Given the description of an element on the screen output the (x, y) to click on. 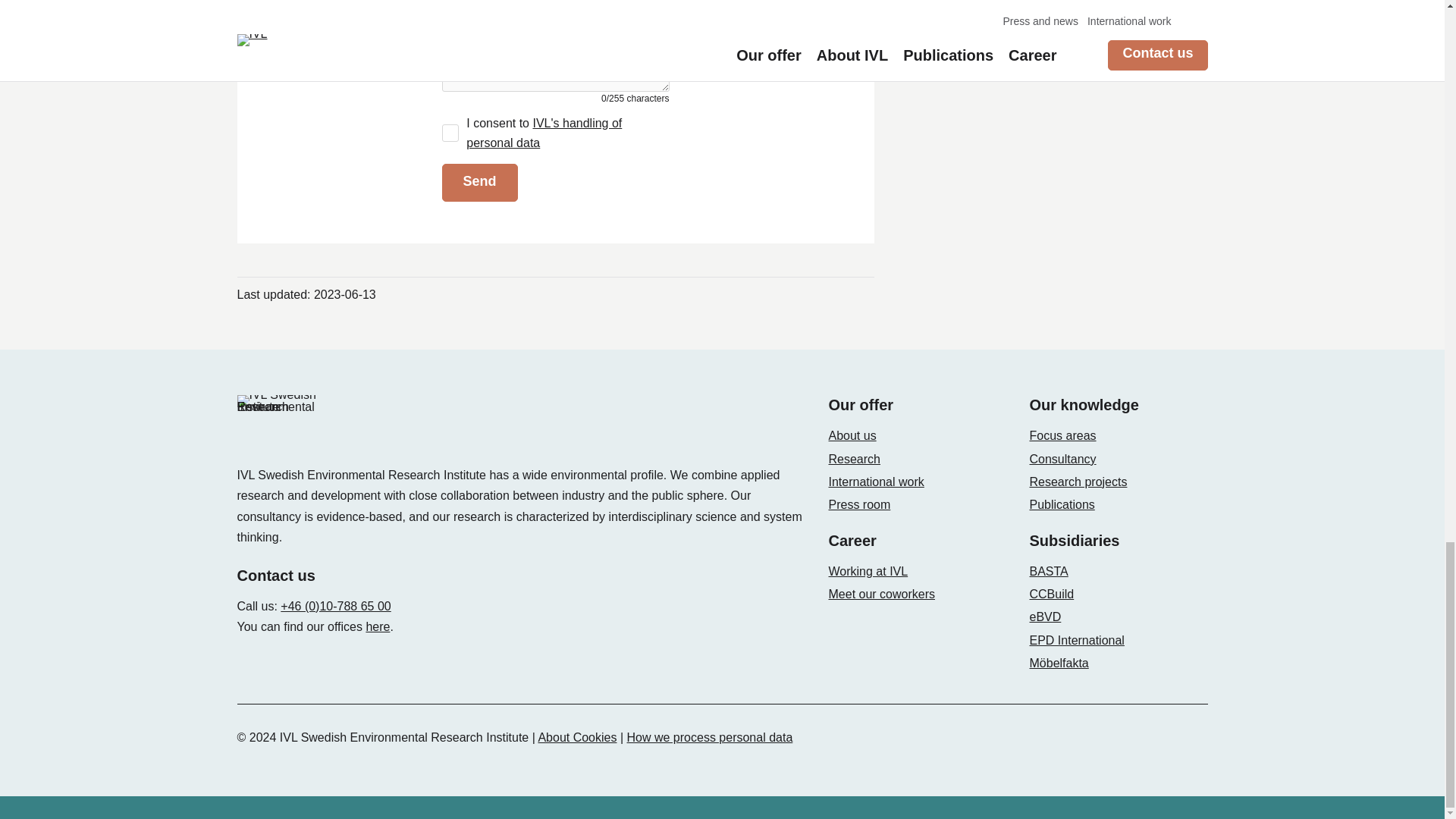
About us (852, 435)
CCBuild (1051, 594)
BASTA (1048, 571)
Consultancy (1062, 459)
IVL's handling of personal data (543, 133)
Focus areas (1062, 435)
Send (478, 182)
eBVD (1045, 616)
Publications (1061, 504)
Research (853, 459)
